Given the description of an element on the screen output the (x, y) to click on. 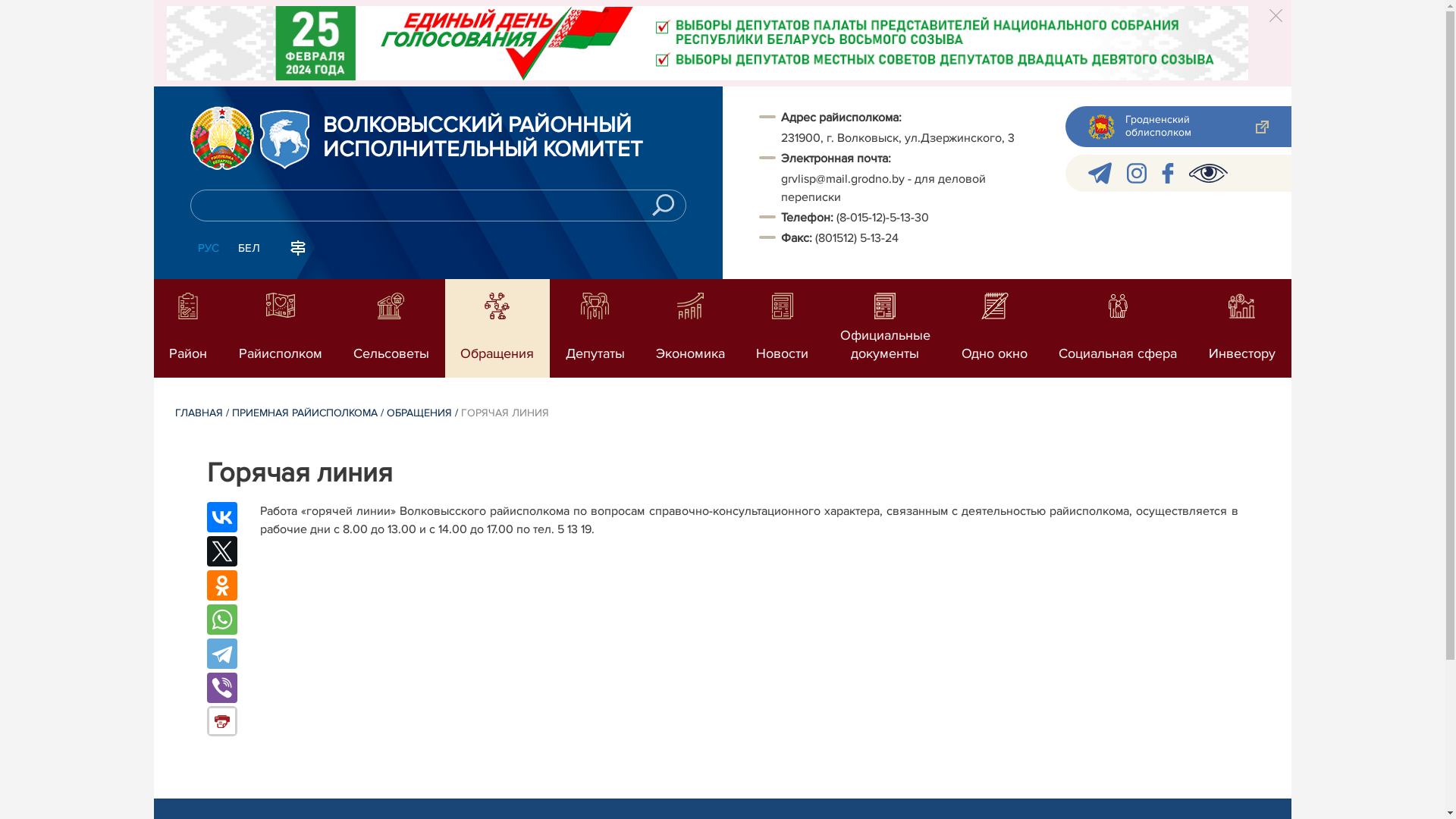
Twitter Element type: hover (221, 551)
Telegram Element type: hover (221, 653)
facebook Element type: hover (1167, 173)
telegram Element type: hover (1099, 173)
Viber Element type: hover (221, 687)
WhatsApp Element type: hover (221, 619)
instagram Element type: hover (1136, 173)
